Given the description of an element on the screen output the (x, y) to click on. 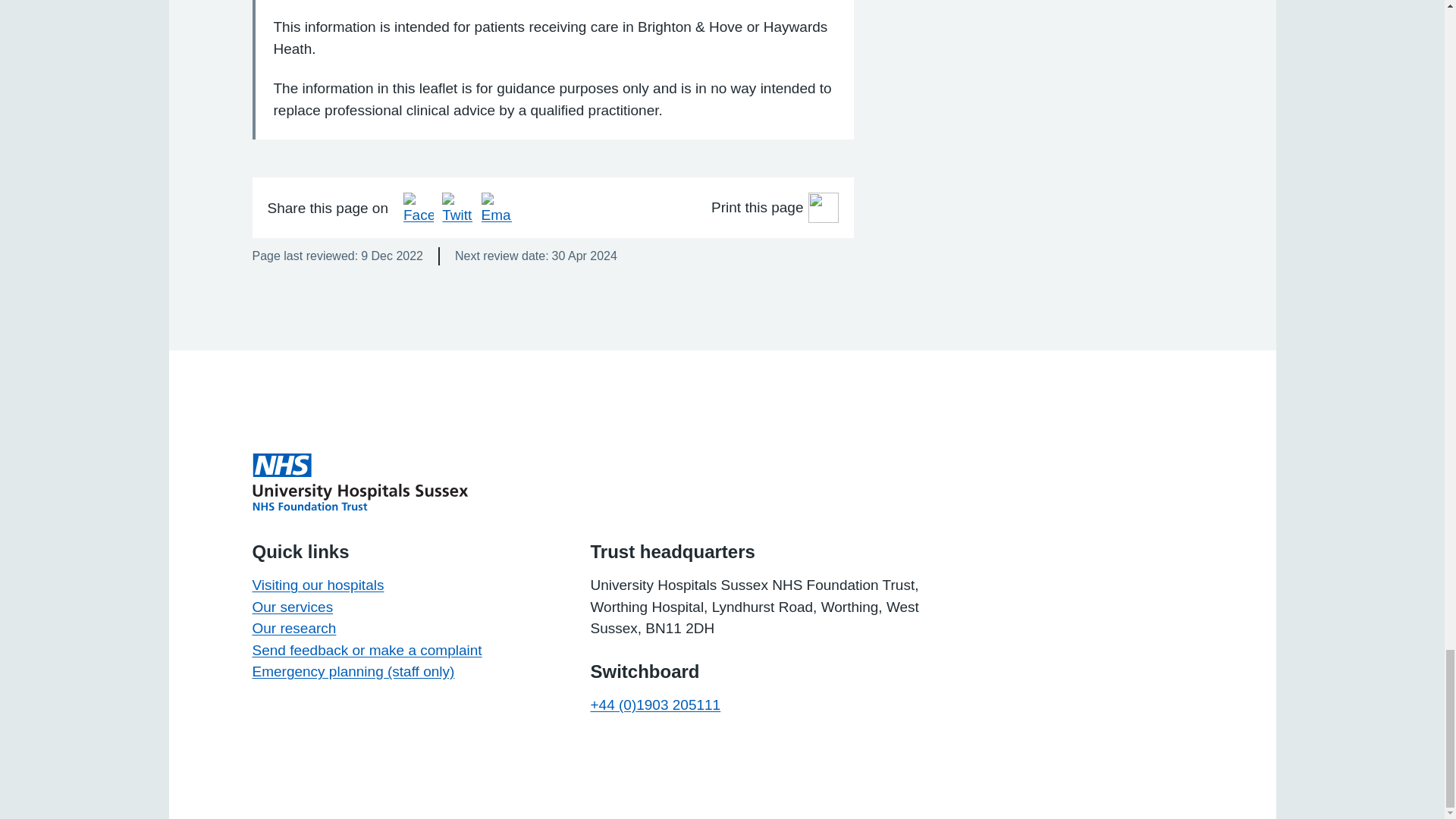
Share via Email (496, 207)
Share on Twitter (456, 207)
Excellence as our standard (359, 482)
Share on Facebook (418, 207)
